Given the description of an element on the screen output the (x, y) to click on. 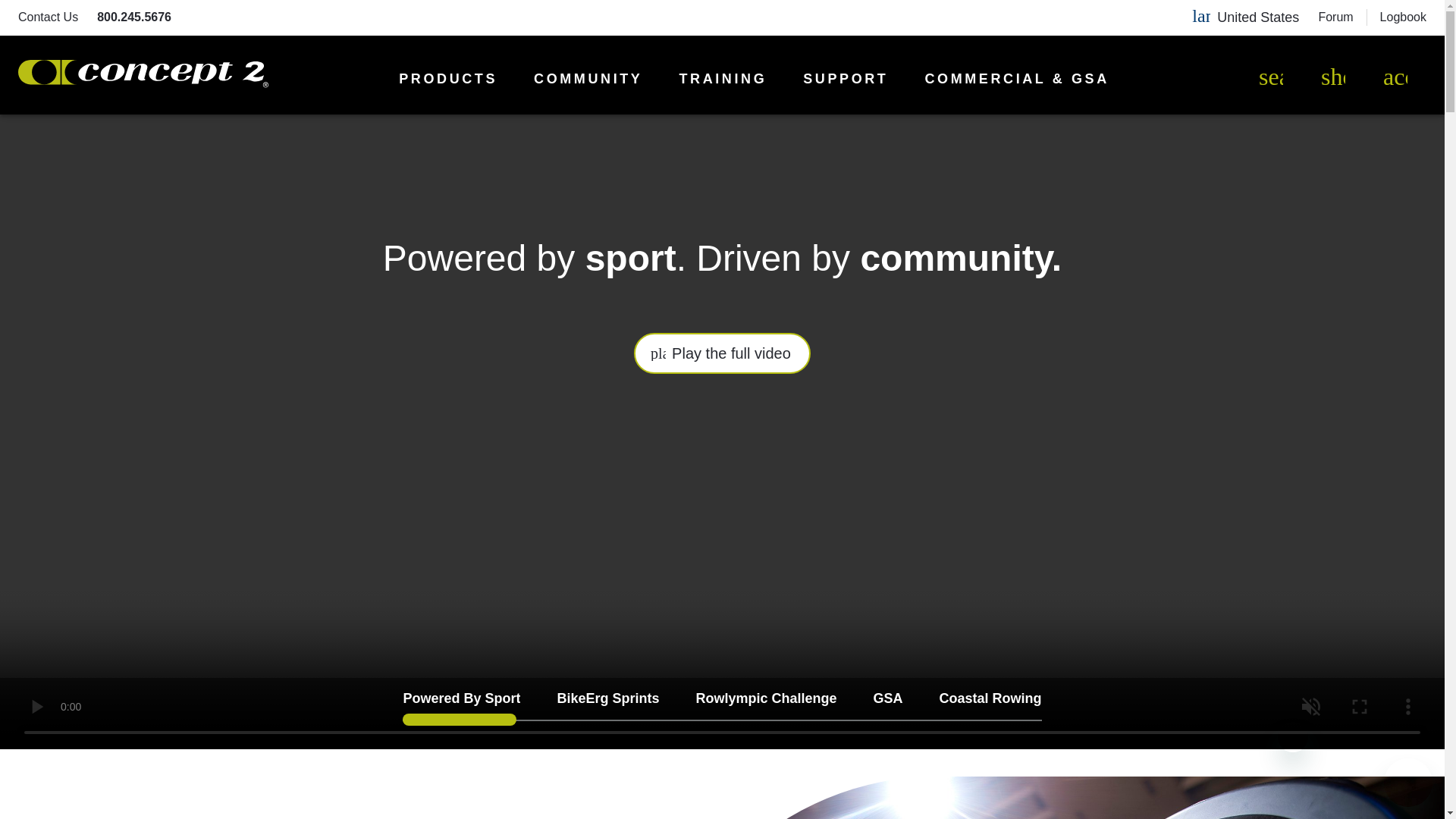
PRODUCTS (447, 78)
Powered By Sport (461, 701)
Close message (1292, 736)
TRAINING (722, 78)
Forum (1334, 17)
United States (1257, 17)
SUPPORT (845, 78)
Coastal Rowing (990, 701)
Rowlympic Challenge (766, 701)
Contact Us (47, 17)
COMMUNITY (588, 78)
Logbook (1403, 17)
BikeErg Sprints (607, 701)
Button to launch messaging window (1408, 782)
